Given the description of an element on the screen output the (x, y) to click on. 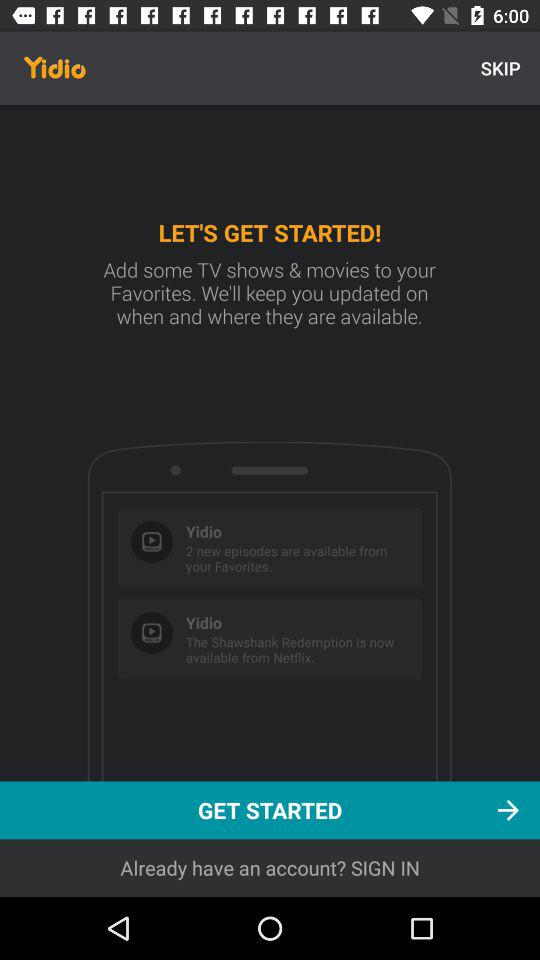
scroll until skip item (500, 67)
